Given the description of an element on the screen output the (x, y) to click on. 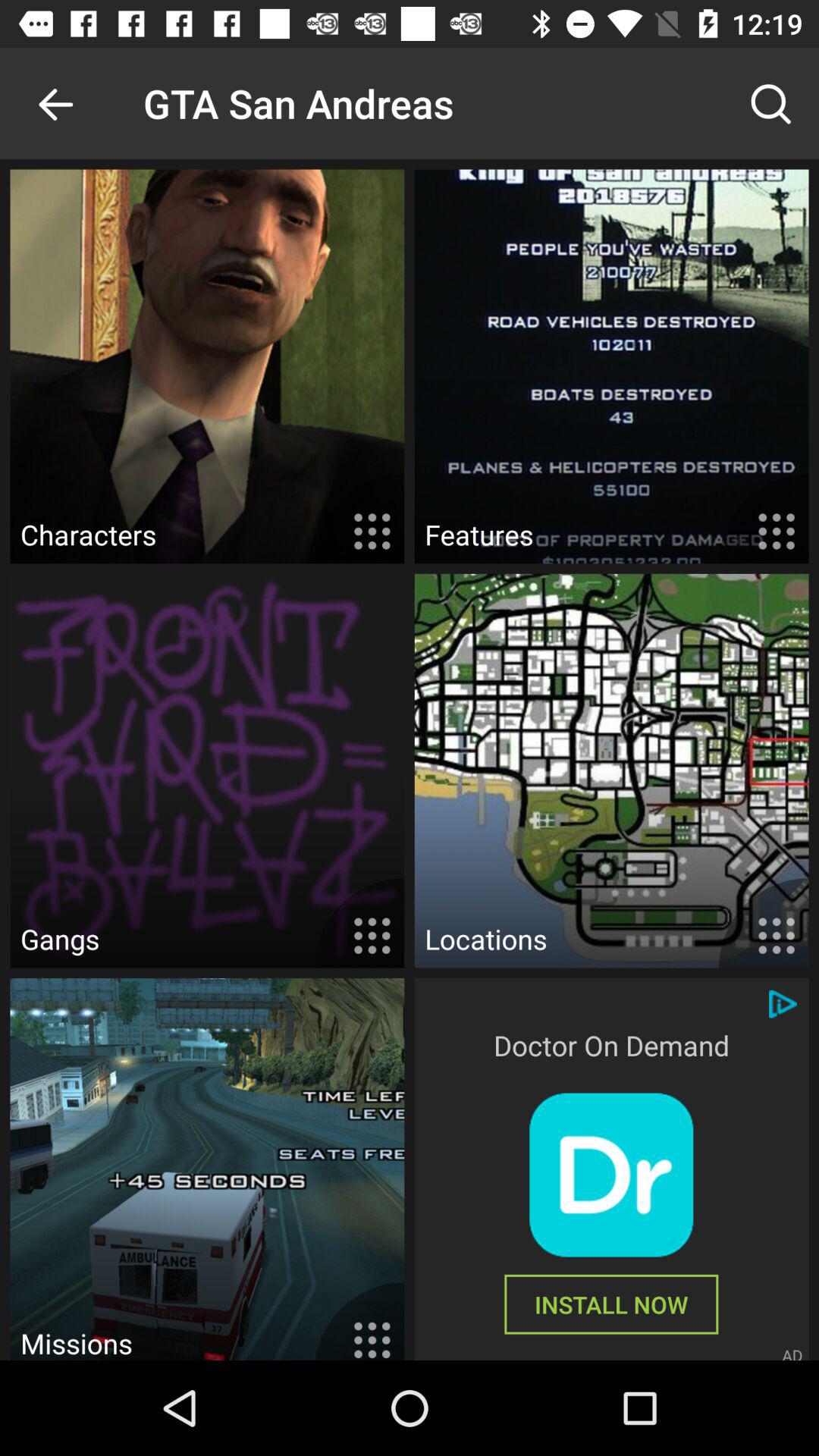
swipe to the doctor on demand icon (611, 1045)
